Given the description of an element on the screen output the (x, y) to click on. 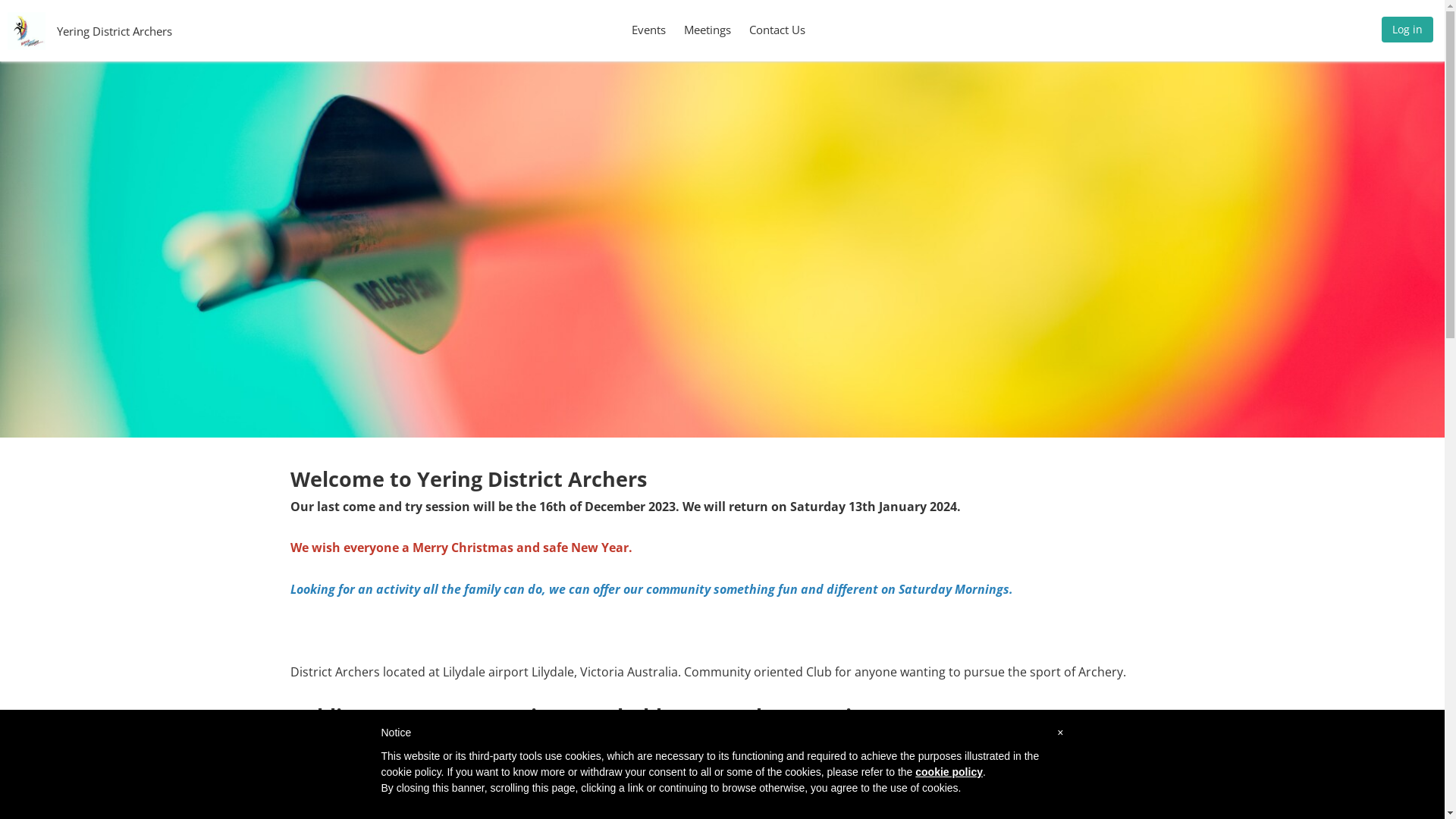
Meetings Element type: text (707, 29)
cookie policy Element type: text (948, 771)
Yering District Archers Element type: text (114, 29)
Events Element type: text (648, 29)
yda.tidyhq.com Element type: text (984, 742)
Log in Element type: text (1407, 32)
Contact Us Element type: text (776, 29)
